Given the description of an element on the screen output the (x, y) to click on. 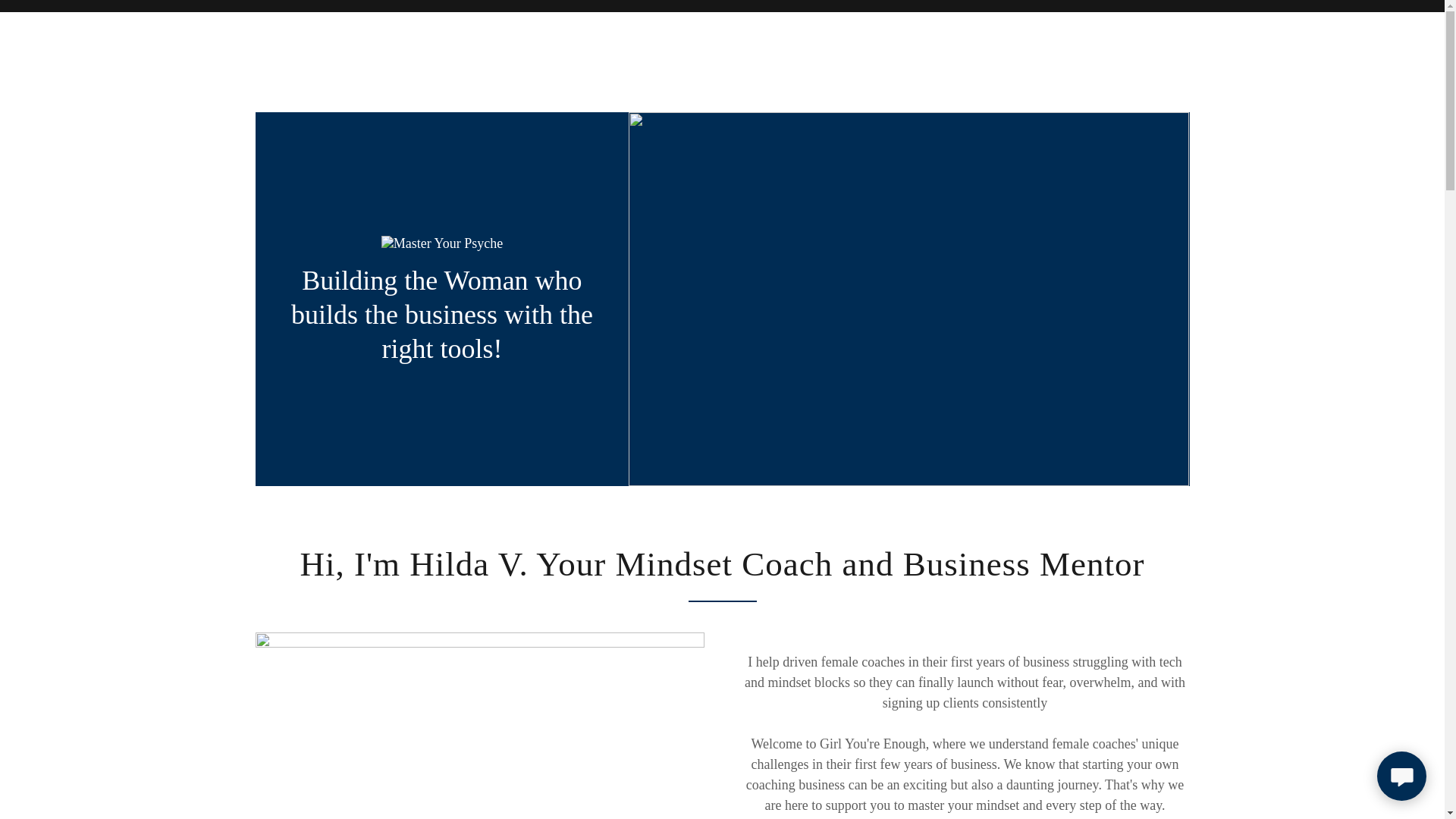
Master Your Psyche (442, 242)
